Given the description of an element on the screen output the (x, y) to click on. 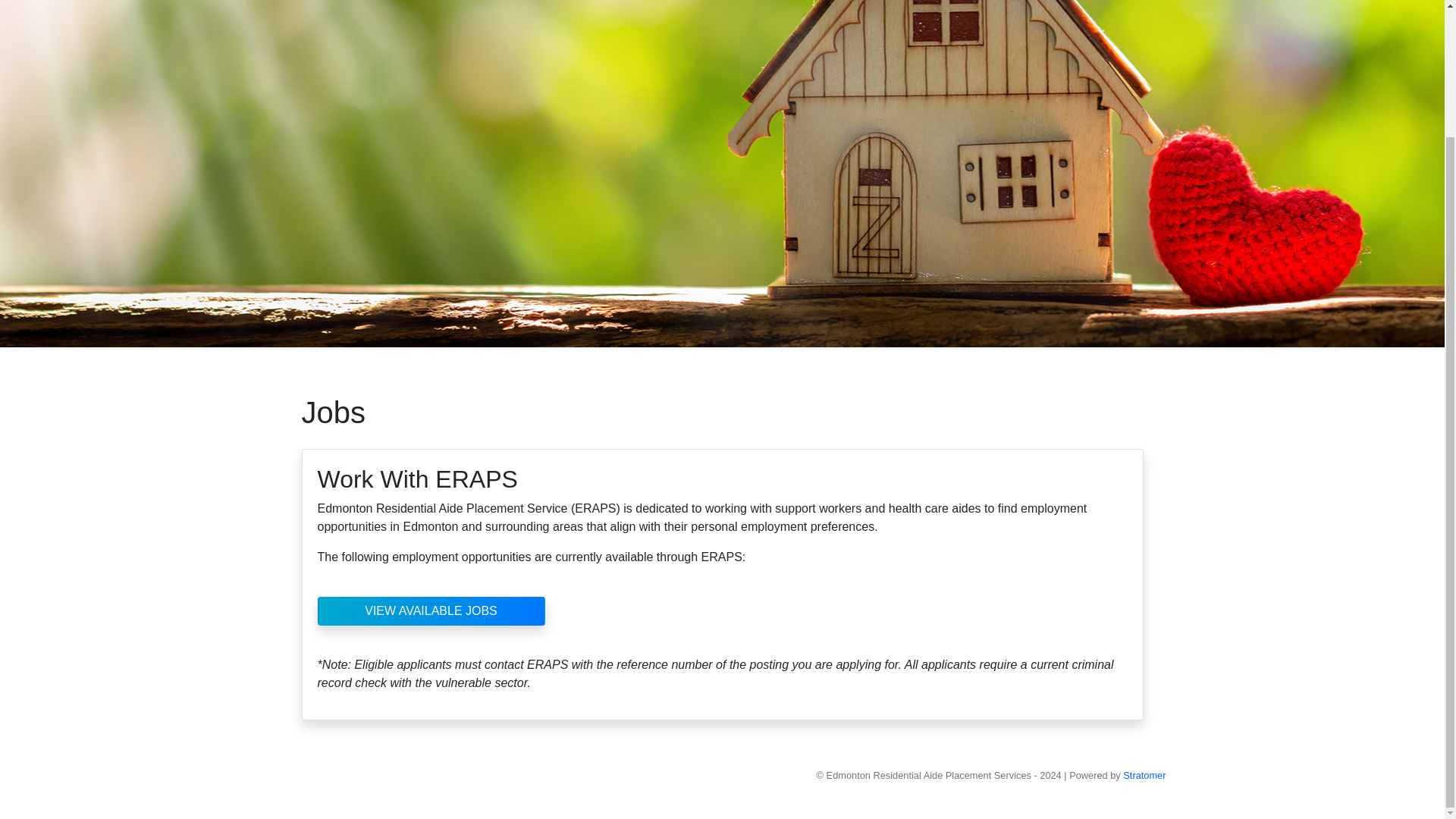
Stratomer (1144, 775)
VIEW AVAILABLE JOBS (430, 611)
